Given the description of an element on the screen output the (x, y) to click on. 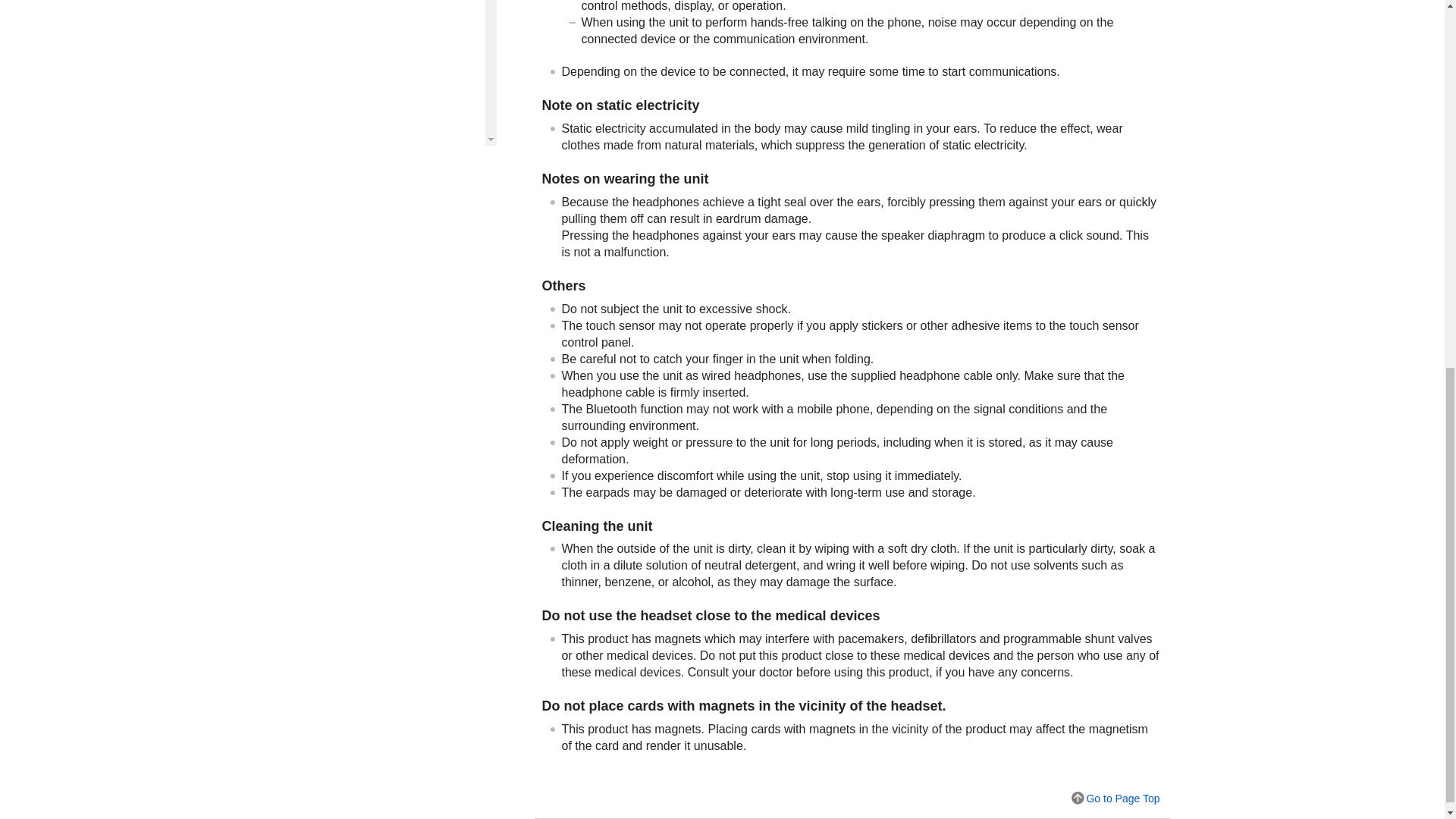
Go to Page Top (1114, 798)
